Given the description of an element on the screen output the (x, y) to click on. 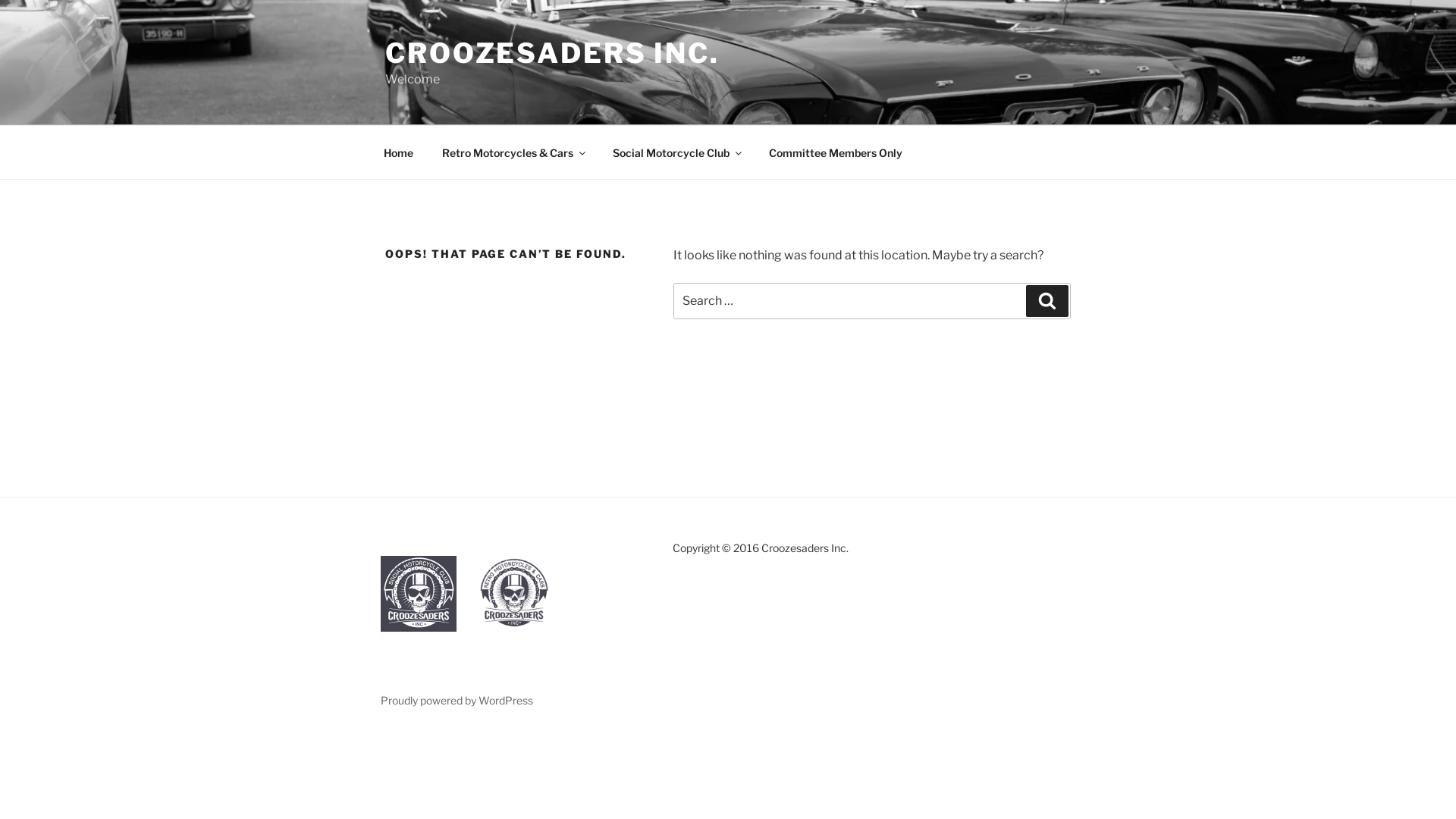
Retro Motorcycles & Cars Element type: text (512, 151)
Committee Members Only Element type: text (835, 151)
Proudly powered by WordPress Element type: text (456, 699)
Search Element type: text (1047, 300)
Home Element type: text (398, 151)
Social Motorcycle Club Element type: text (676, 151)
CROOZESADERS INC. Element type: text (552, 52)
